Given the description of an element on the screen output the (x, y) to click on. 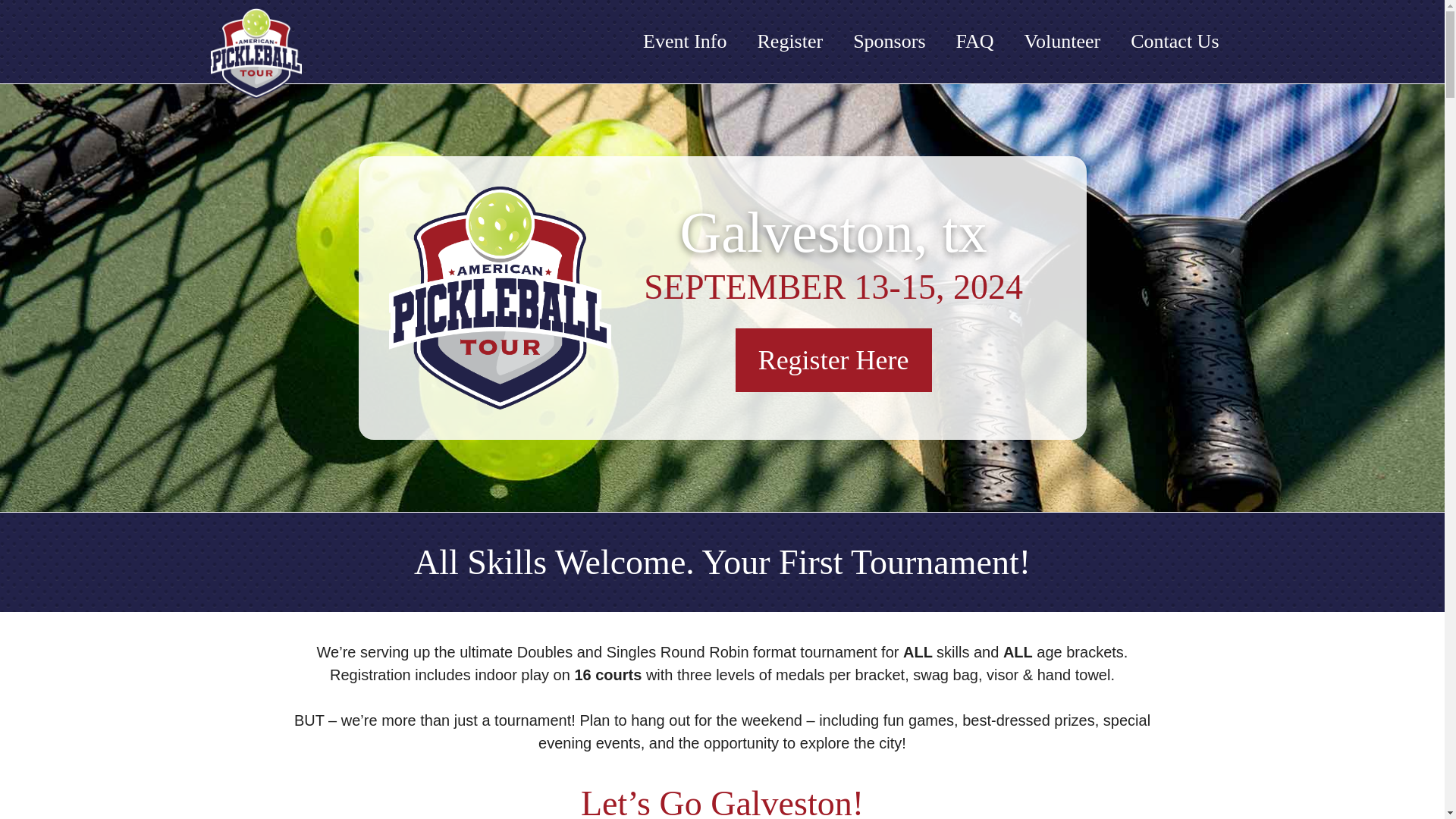
Event Info (684, 41)
Volunteer (1062, 41)
FAQ (974, 41)
Sponsors (889, 41)
Contact Us (1174, 41)
Volunteer (1062, 41)
Register (789, 41)
Sponsors (889, 41)
American Pickleball Tour (256, 53)
Event Info (684, 41)
Contact Us (1174, 41)
American Pickleball Tour (499, 297)
Register (789, 41)
Register Here (833, 360)
FAQ (974, 41)
